Given the description of an element on the screen output the (x, y) to click on. 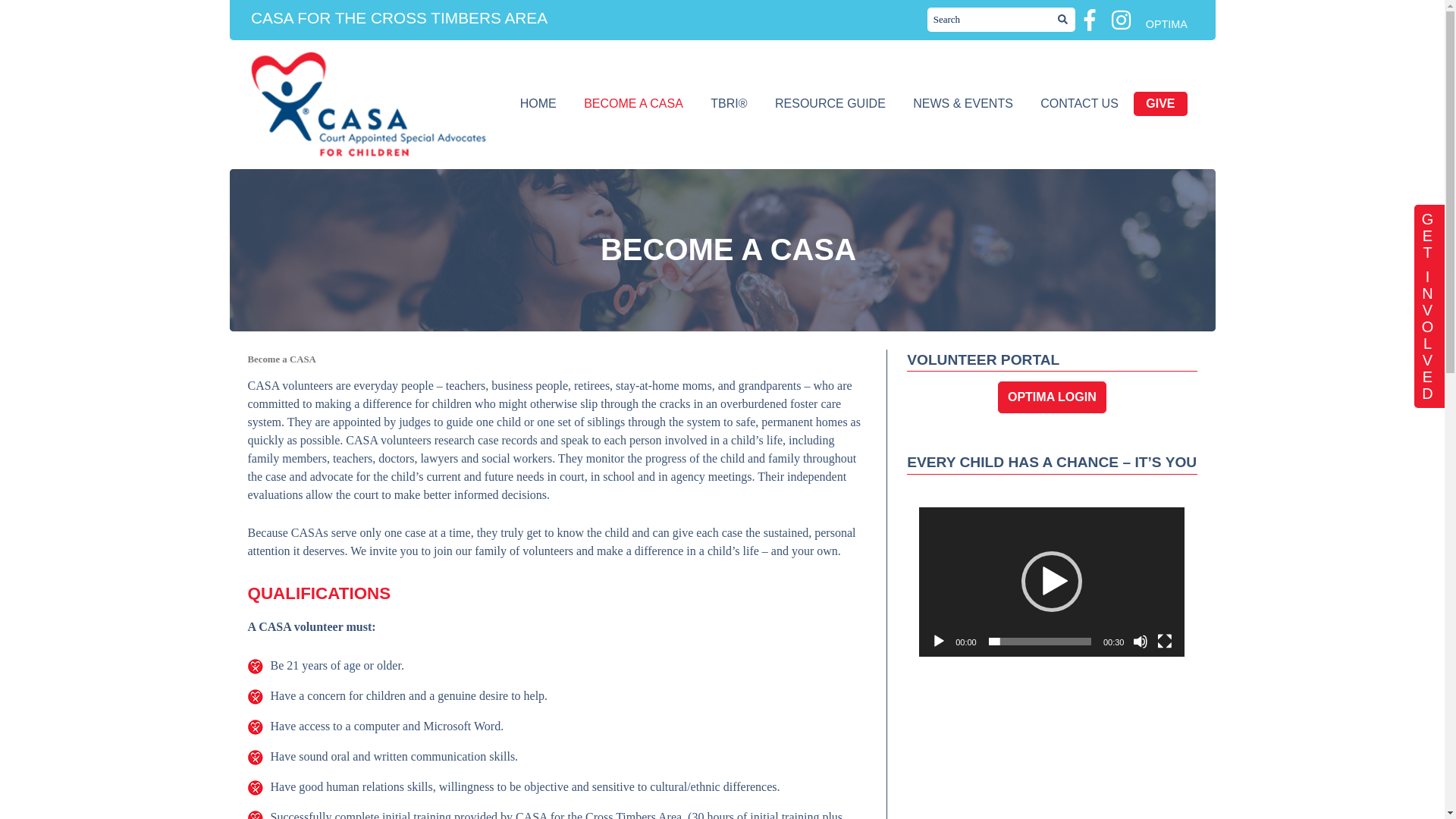
Mute (1140, 641)
Search (1063, 19)
CASA FOR THE CROSS TIMBERS AREA (398, 17)
Play (938, 641)
Fullscreen (1164, 641)
HOME (538, 103)
OPTIMA (1166, 24)
